Given the description of an element on the screen output the (x, y) to click on. 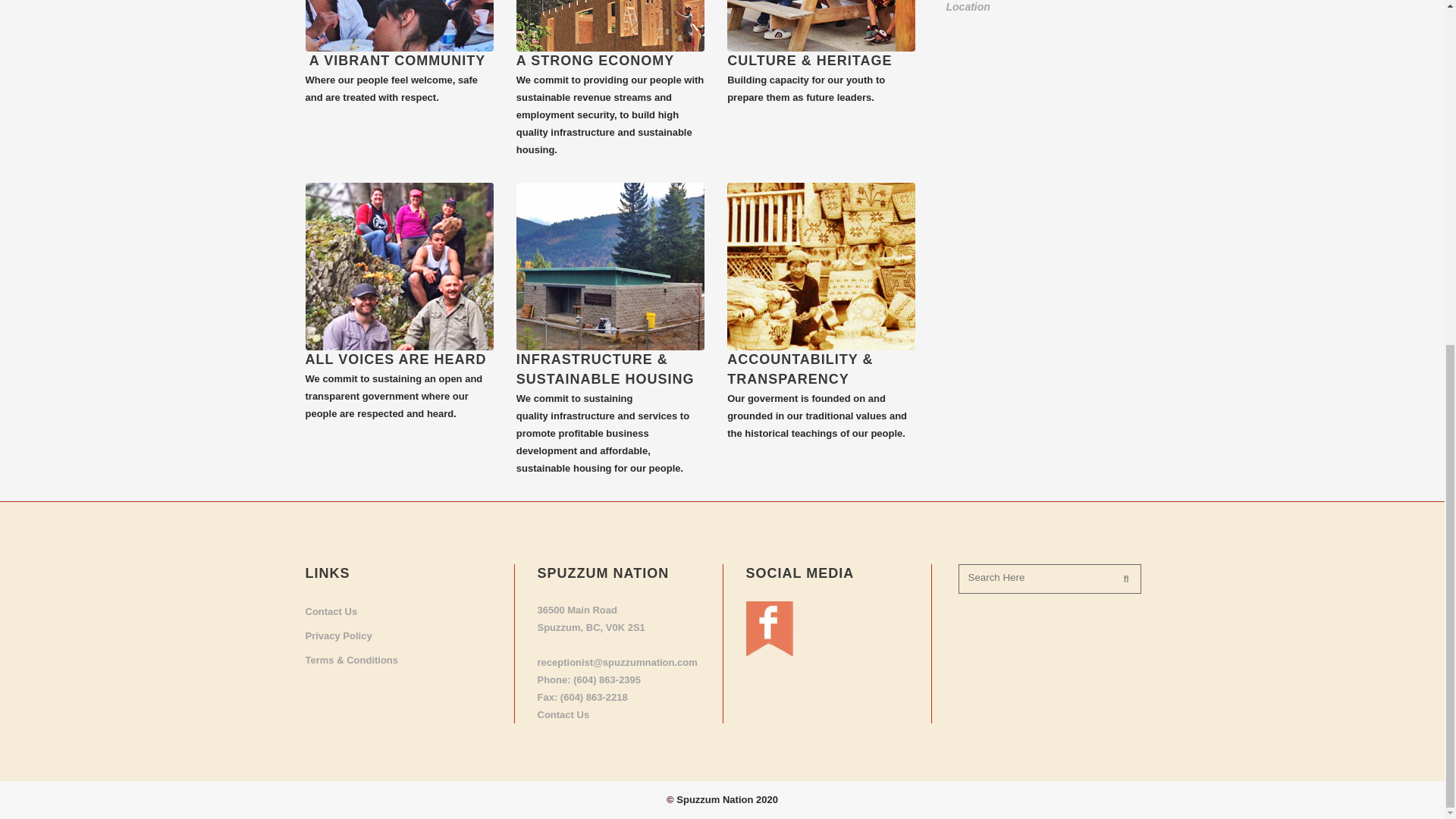
Privacy Policy (397, 636)
Facebook (769, 652)
Contact Us (397, 611)
Location (968, 6)
